Given the description of an element on the screen output the (x, y) to click on. 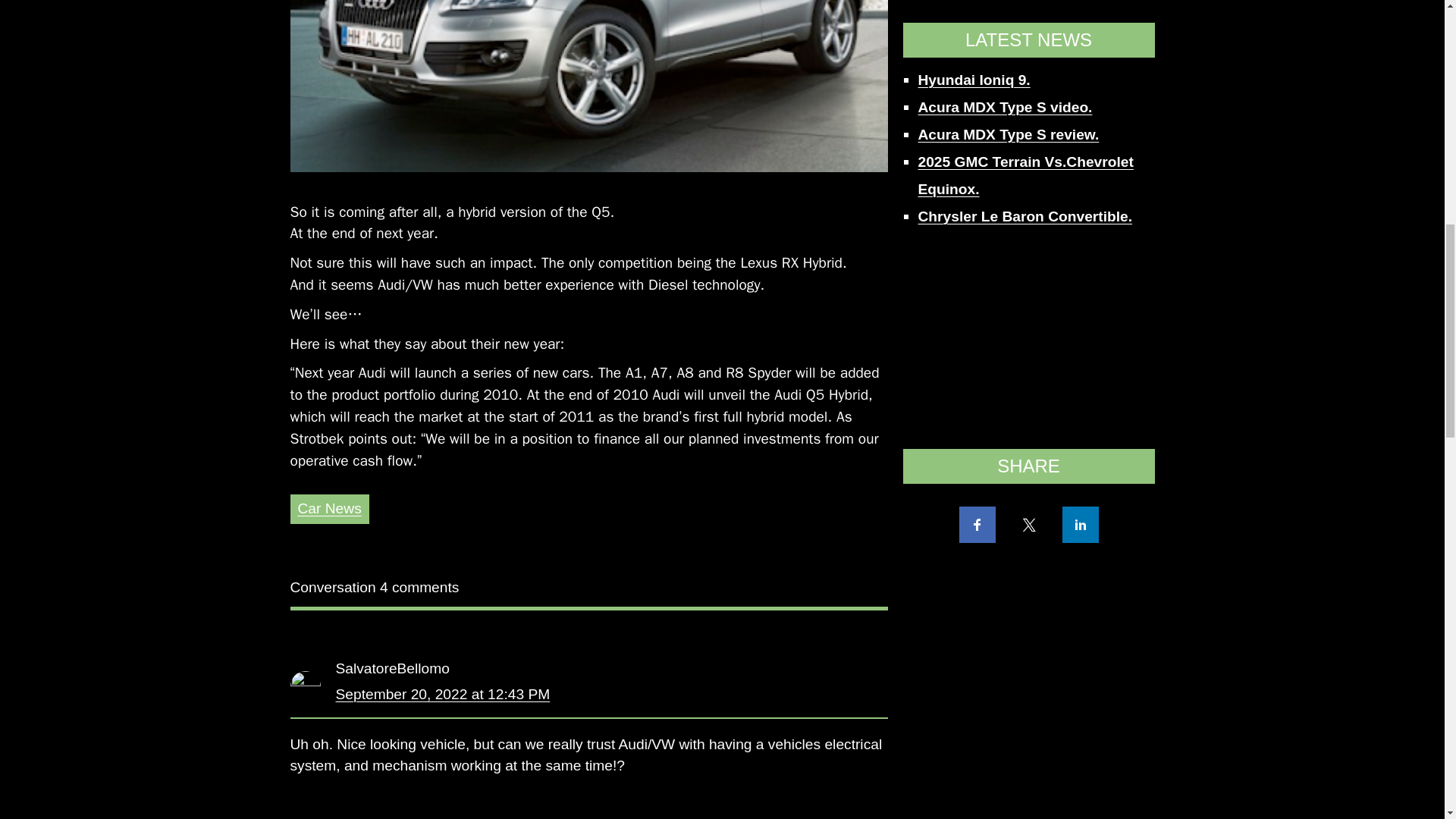
Advertisement (1028, 28)
September 20, 2022 at 12:43 PM (442, 693)
Car News (329, 508)
